Given the description of an element on the screen output the (x, y) to click on. 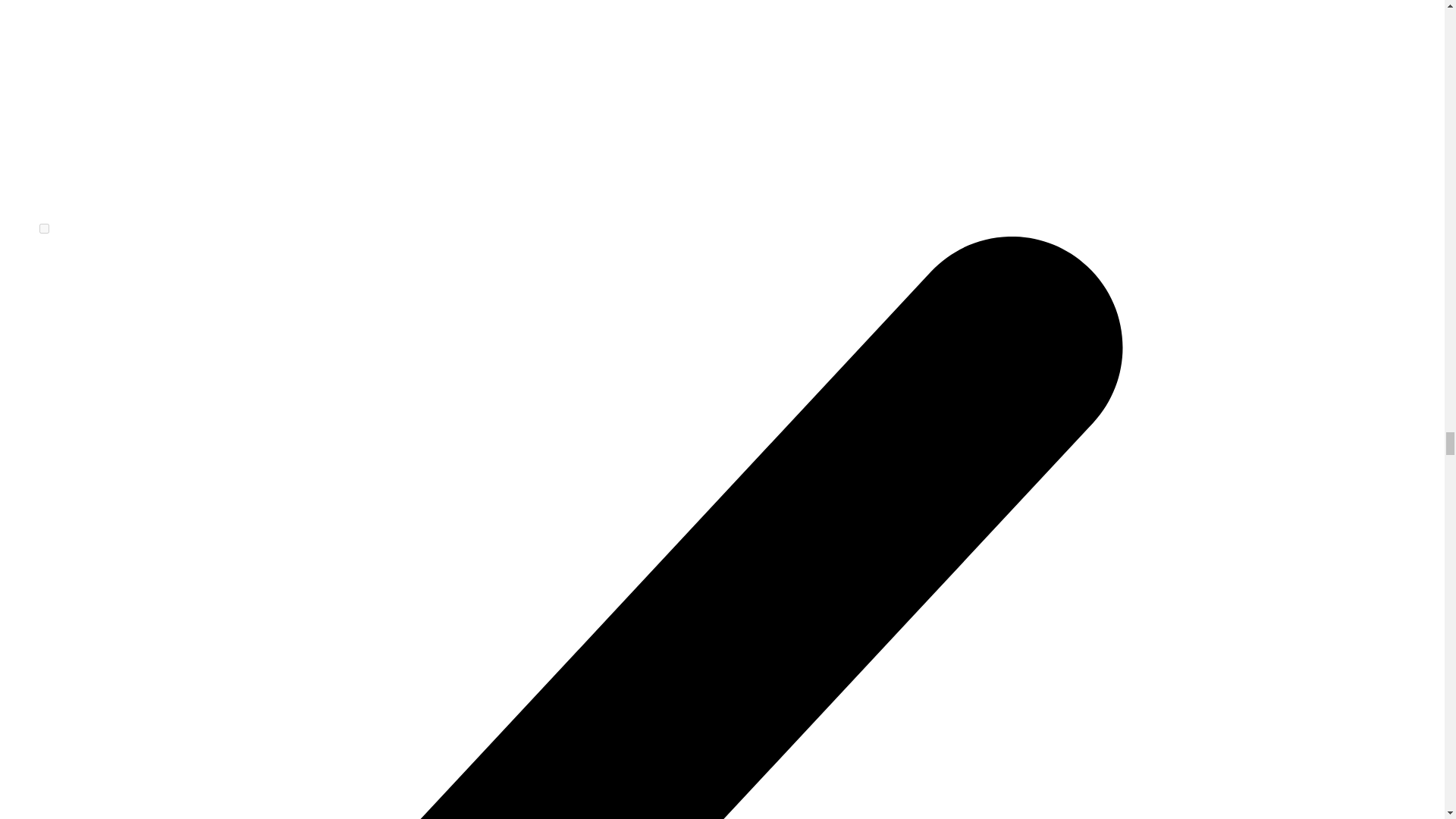
on (44, 228)
